Given the description of an element on the screen output the (x, y) to click on. 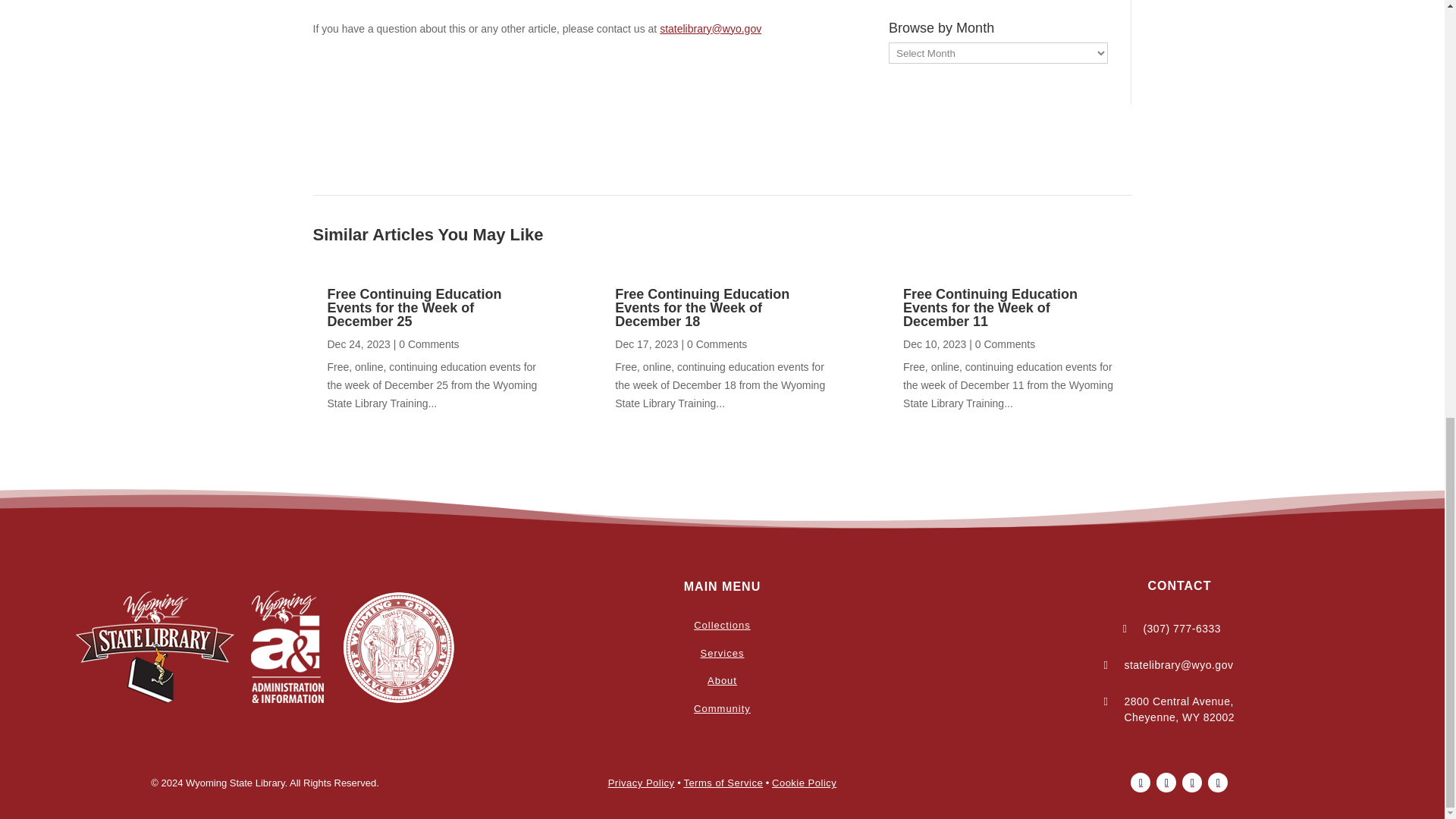
Follow on LinkedIn (1217, 782)
Follow on X (1166, 782)
Follow on Facebook (1140, 782)
Follow on Youtube (1192, 782)
footer-logos (264, 647)
